Given the description of an element on the screen output the (x, y) to click on. 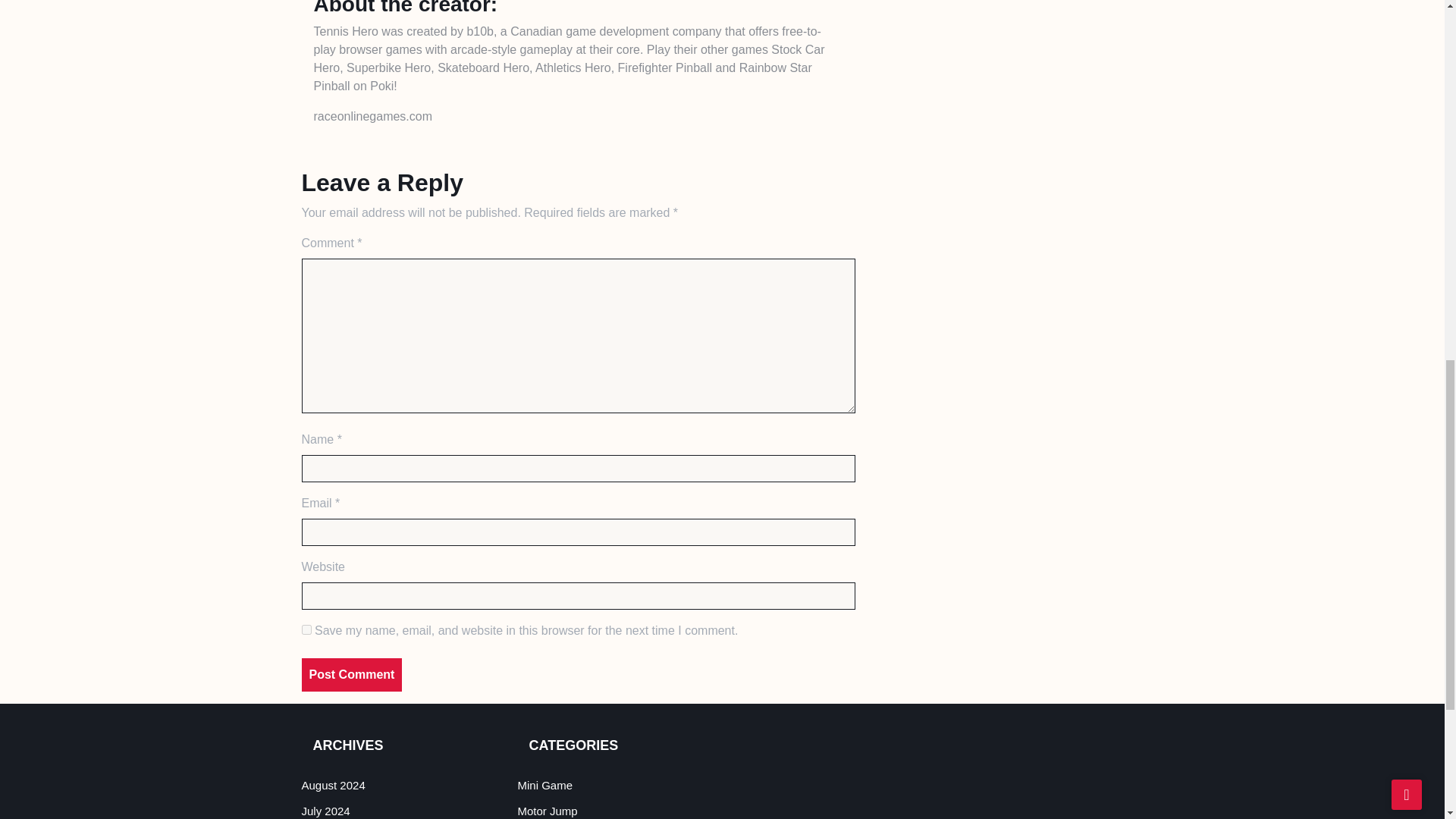
July 2024 (325, 810)
Post Comment (352, 674)
August 2024 (333, 784)
yes (306, 629)
Post Comment (352, 674)
Motor Jump (546, 810)
Mini Game (544, 784)
